Given the description of an element on the screen output the (x, y) to click on. 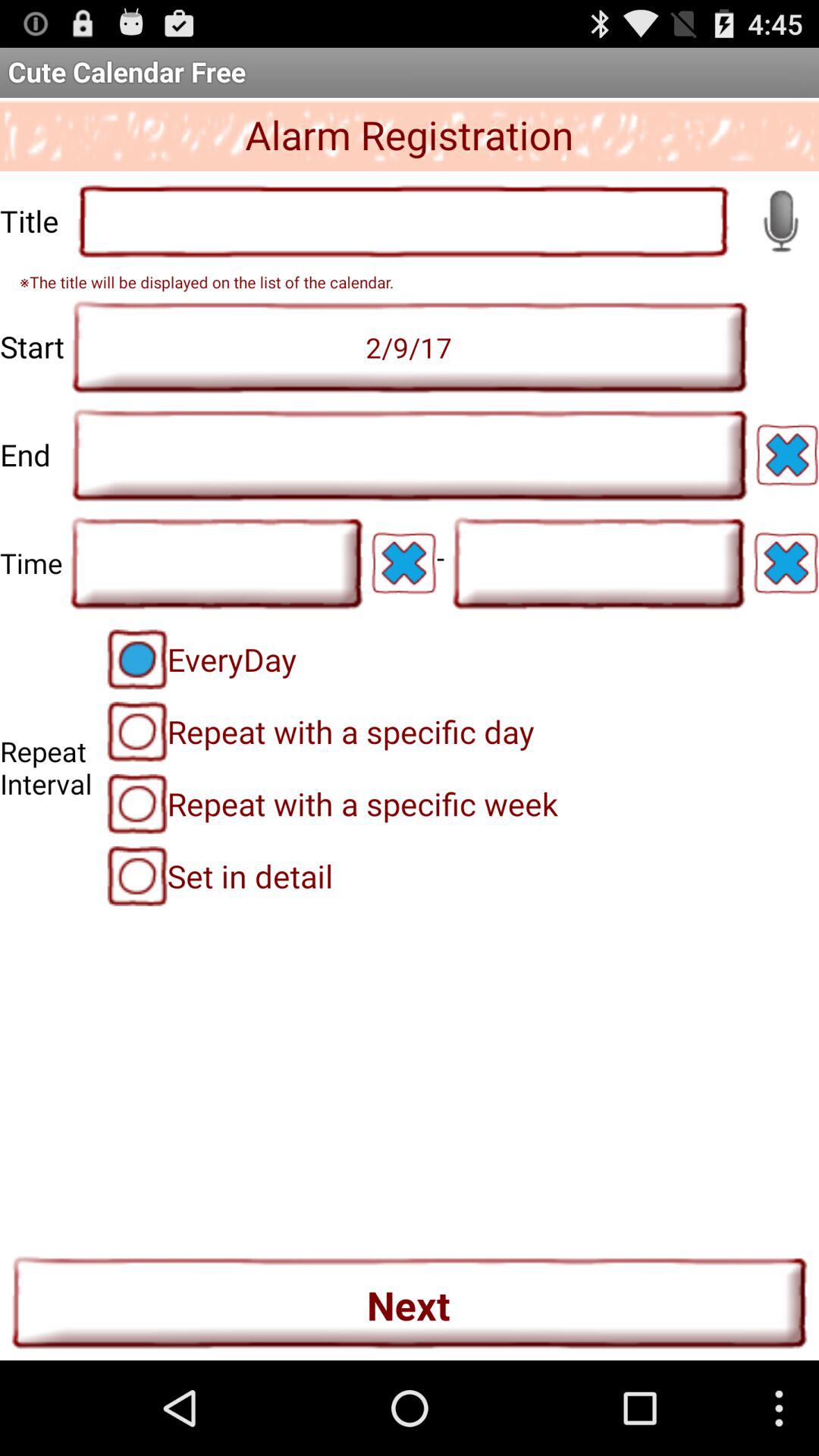
open the icon above the end app (409, 346)
